Given the description of an element on the screen output the (x, y) to click on. 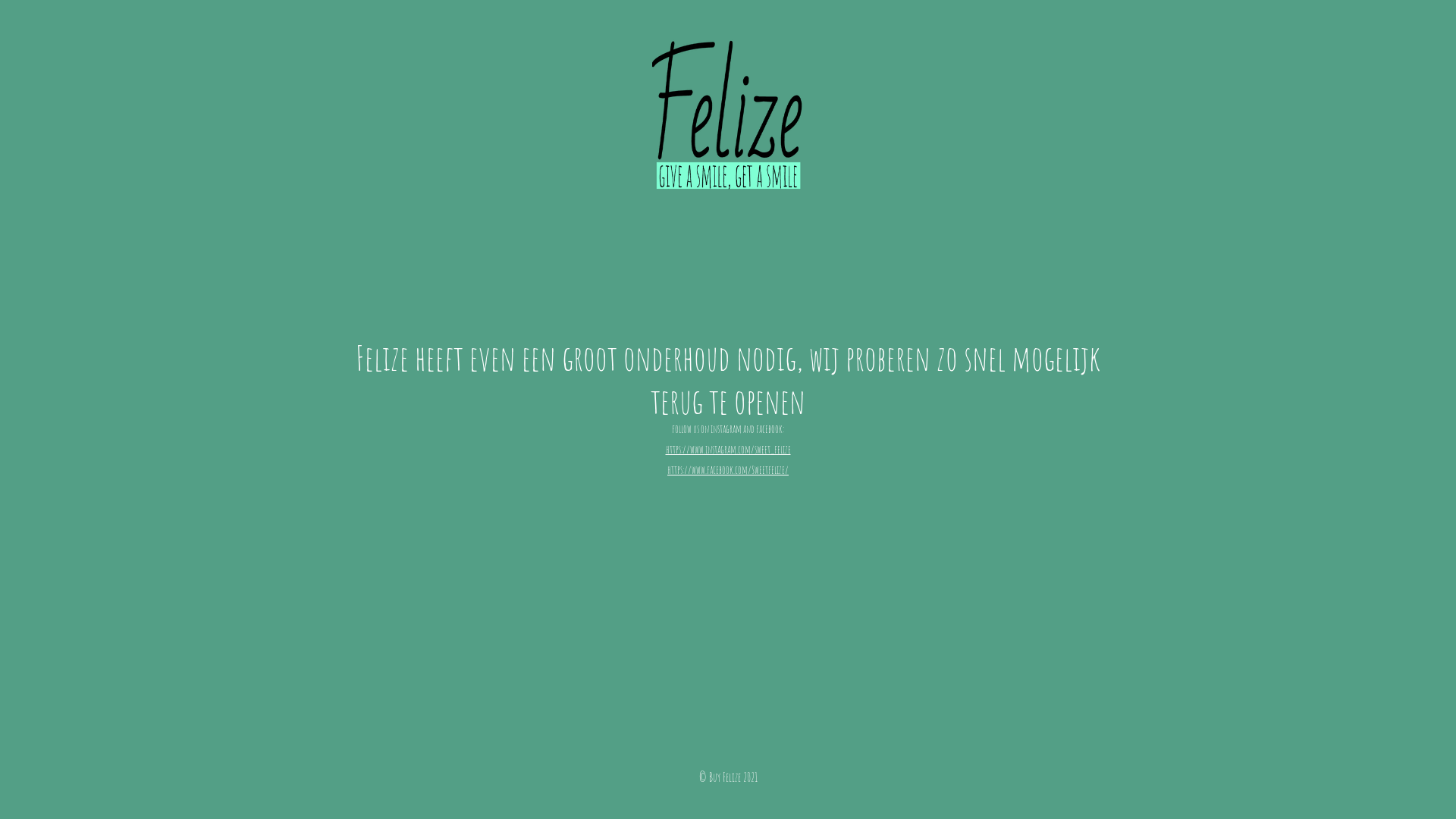
https://www.instagram.com/sweet_felize Element type: text (727, 448)
https://www.facebook.com/Sweetfelize/ Element type: text (727, 468)
